Given the description of an element on the screen output the (x, y) to click on. 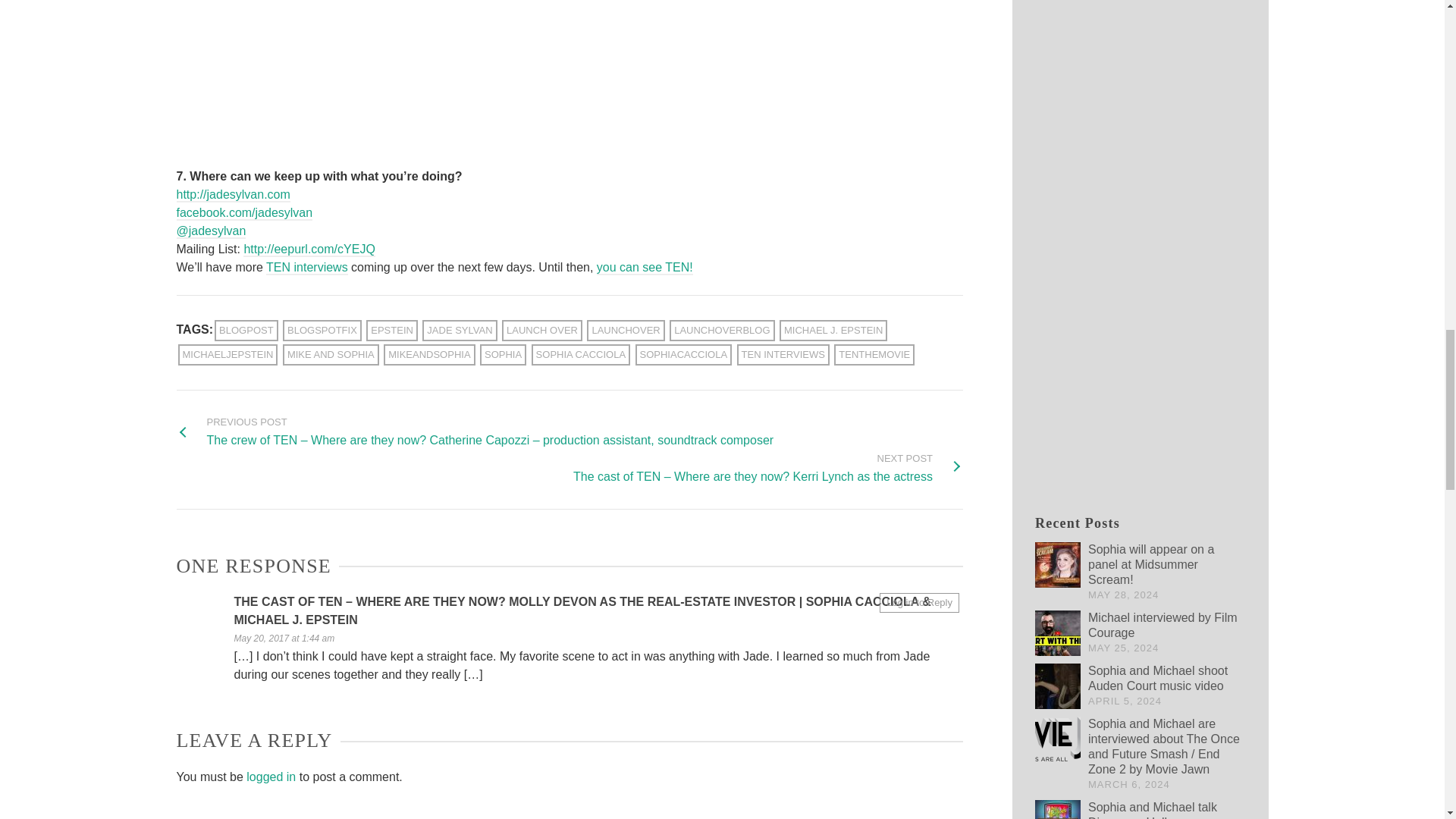
TEN interviews (306, 268)
you can see TEN! (644, 268)
BLOGPOST (246, 330)
